Given the description of an element on the screen output the (x, y) to click on. 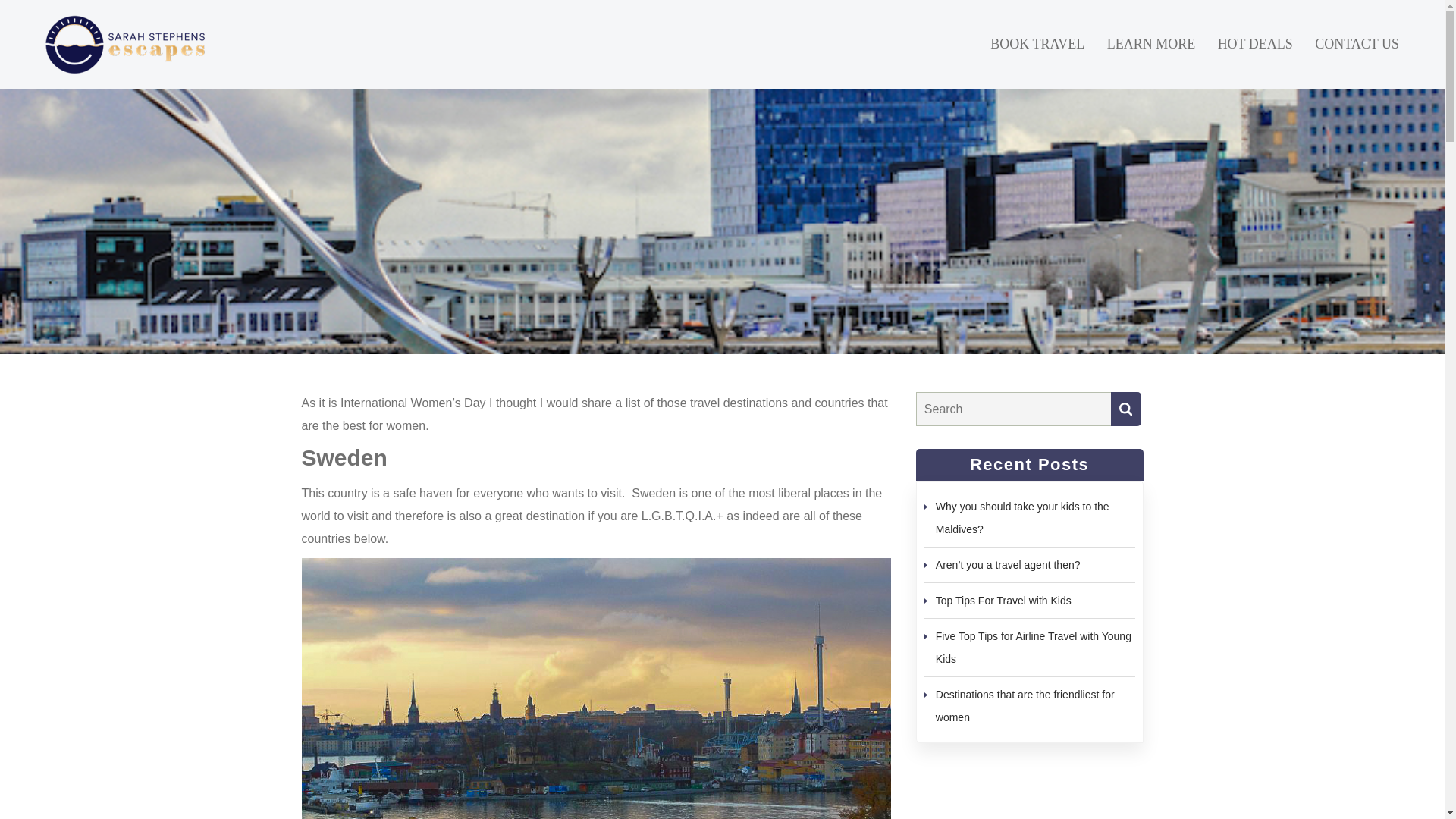
Top Tips For Travel with Kids (1003, 600)
BOOK TRAVEL (1037, 43)
Five Top Tips for Airline Travel with Young Kids (1033, 647)
Why you should take your kids to the Maldives? (1022, 517)
LEARN MORE (1150, 43)
Destinations that are the friendliest for women (1025, 705)
HOT DEALS (1254, 43)
CONTACT US (1356, 43)
